Given the description of an element on the screen output the (x, y) to click on. 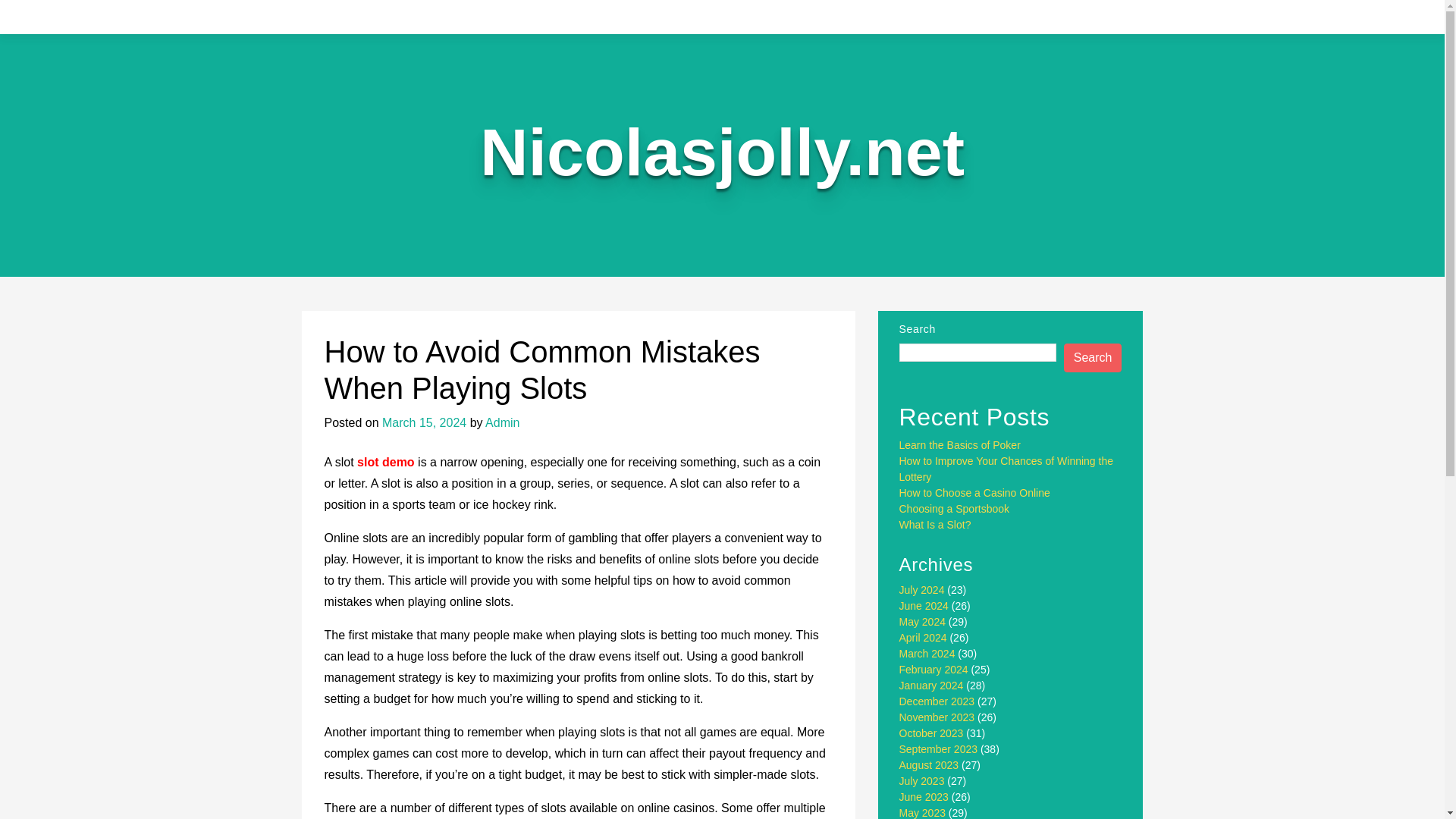
June 2023 (924, 797)
Learn the Basics of Poker (959, 444)
March 15, 2024 (423, 422)
April 2024 (923, 637)
September 2023 (938, 748)
How to Choose a Casino Online (974, 492)
July 2024 (921, 589)
November 2023 (937, 717)
February 2024 (933, 669)
Search (1093, 357)
